Given the description of an element on the screen output the (x, y) to click on. 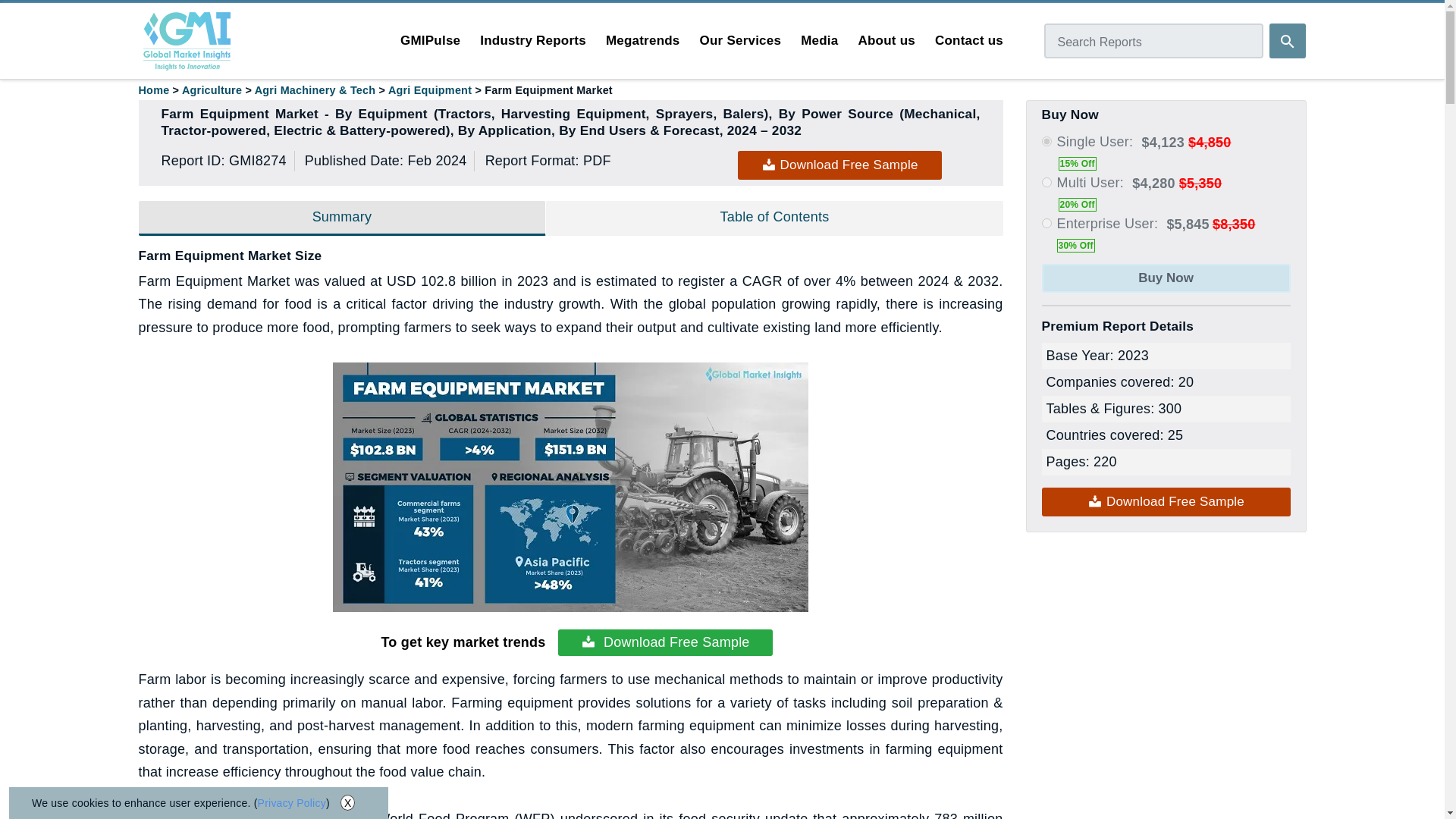
Logo (187, 40)
Farm Equipment Market Research Report (570, 486)
sugmp (1046, 141)
eugmp (1046, 223)
mugmp (1046, 182)
